Given the description of an element on the screen output the (x, y) to click on. 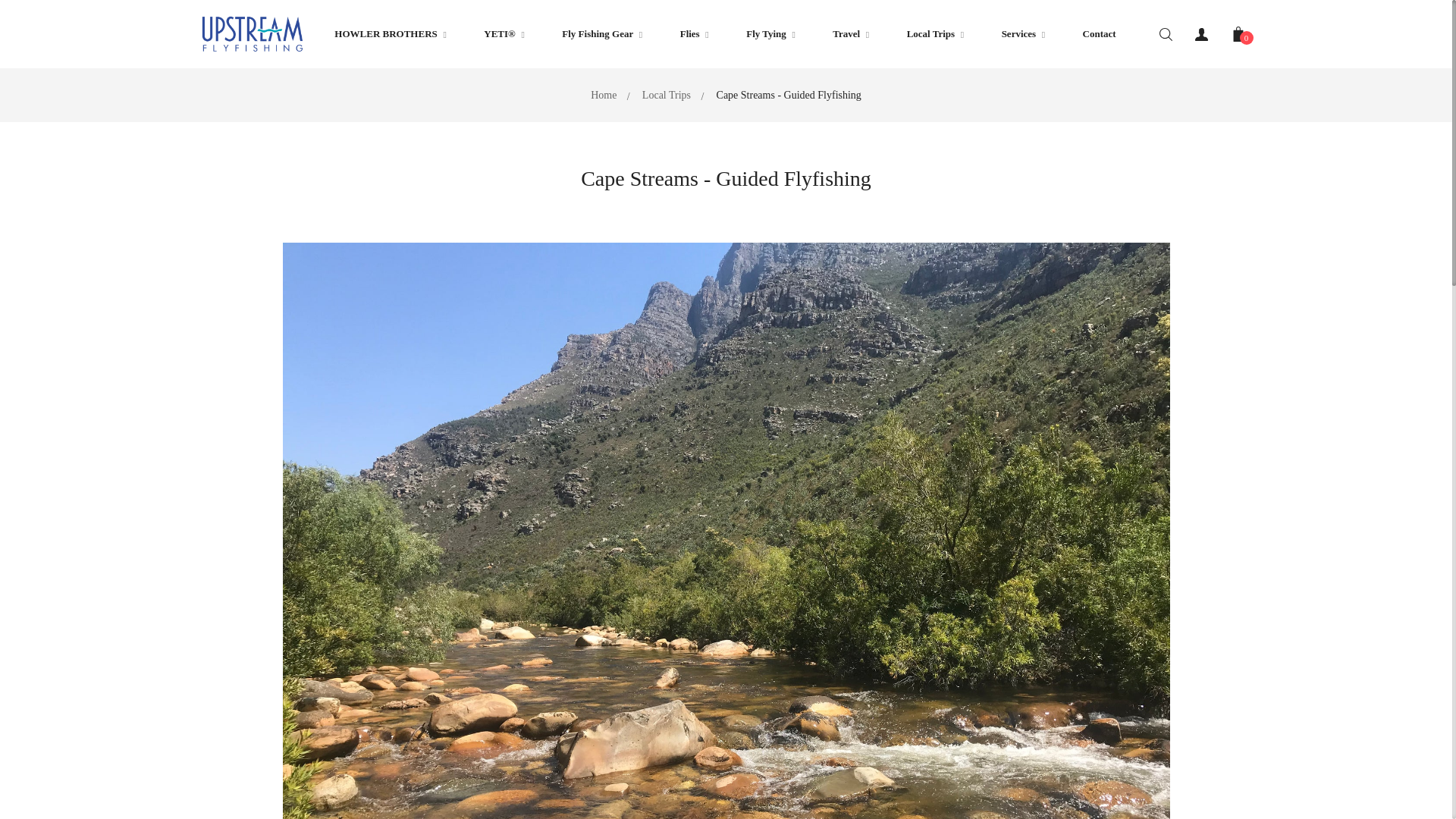
Fly Fishing Gear (601, 33)
Fly Fishing Gear (601, 33)
HOWLER BROTHERS (390, 33)
HOWLER BROTHERS (390, 33)
